Given the description of an element on the screen output the (x, y) to click on. 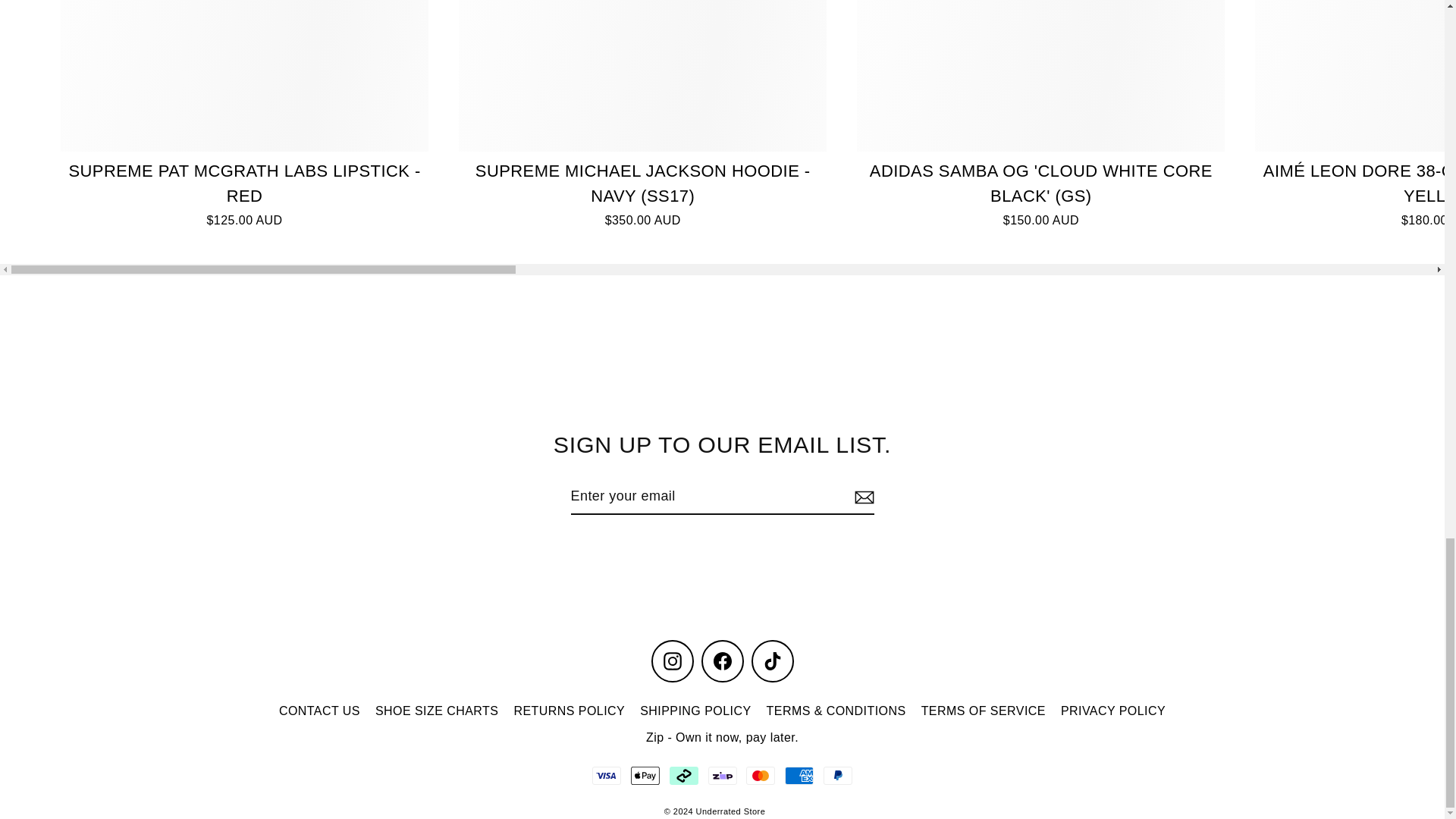
Underrated Store on TikTok (772, 660)
Apple Pay (644, 775)
Visa (606, 775)
Underrated Store on Facebook (721, 660)
Afterpay (683, 775)
Mastercard (759, 775)
Zip (721, 775)
Underrated Store on Instagram (671, 660)
